Given the description of an element on the screen output the (x, y) to click on. 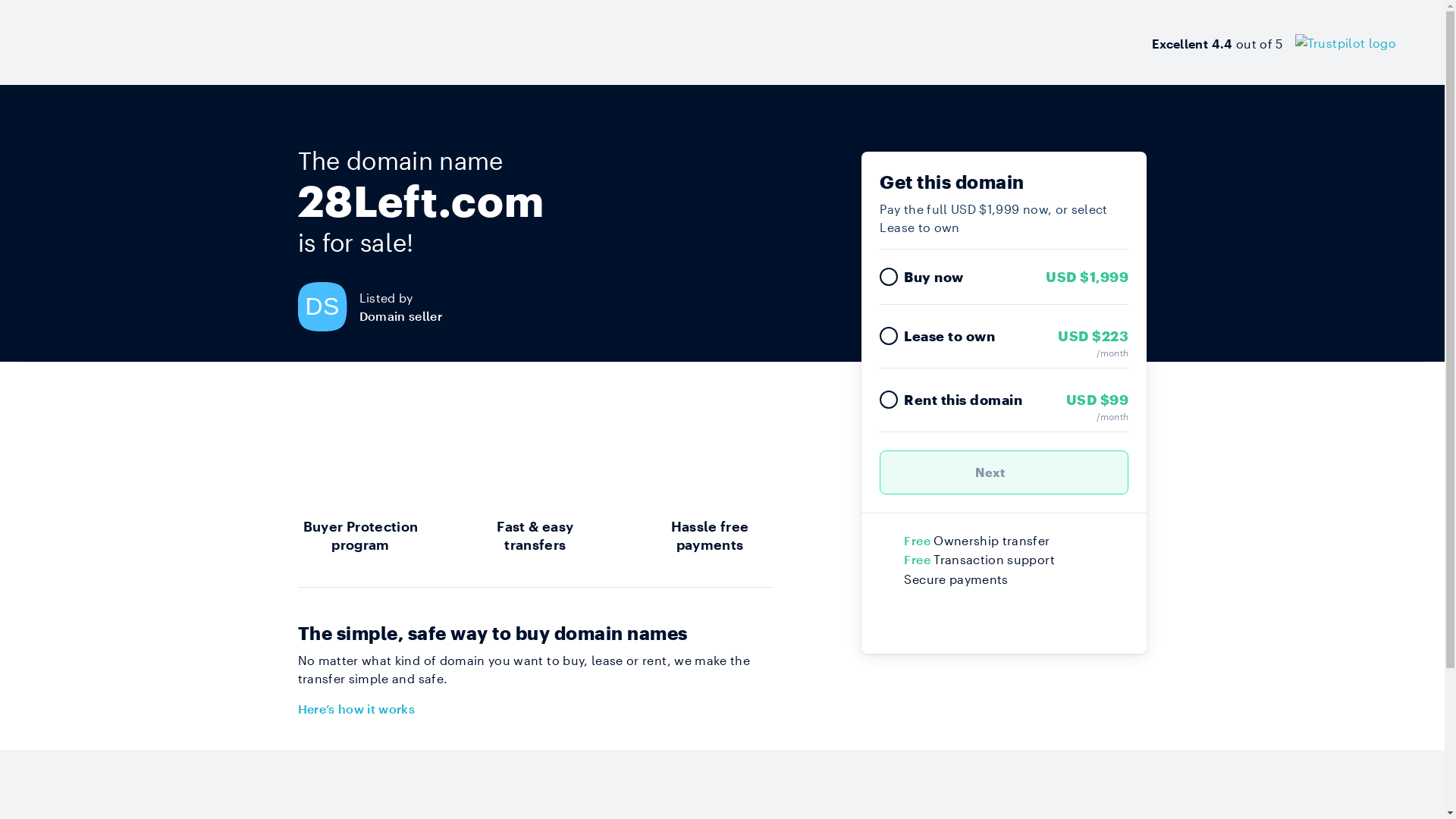
Next
) Element type: text (1003, 472)
Excellent 4.4 out of 5 Element type: text (1273, 42)
